Given the description of an element on the screen output the (x, y) to click on. 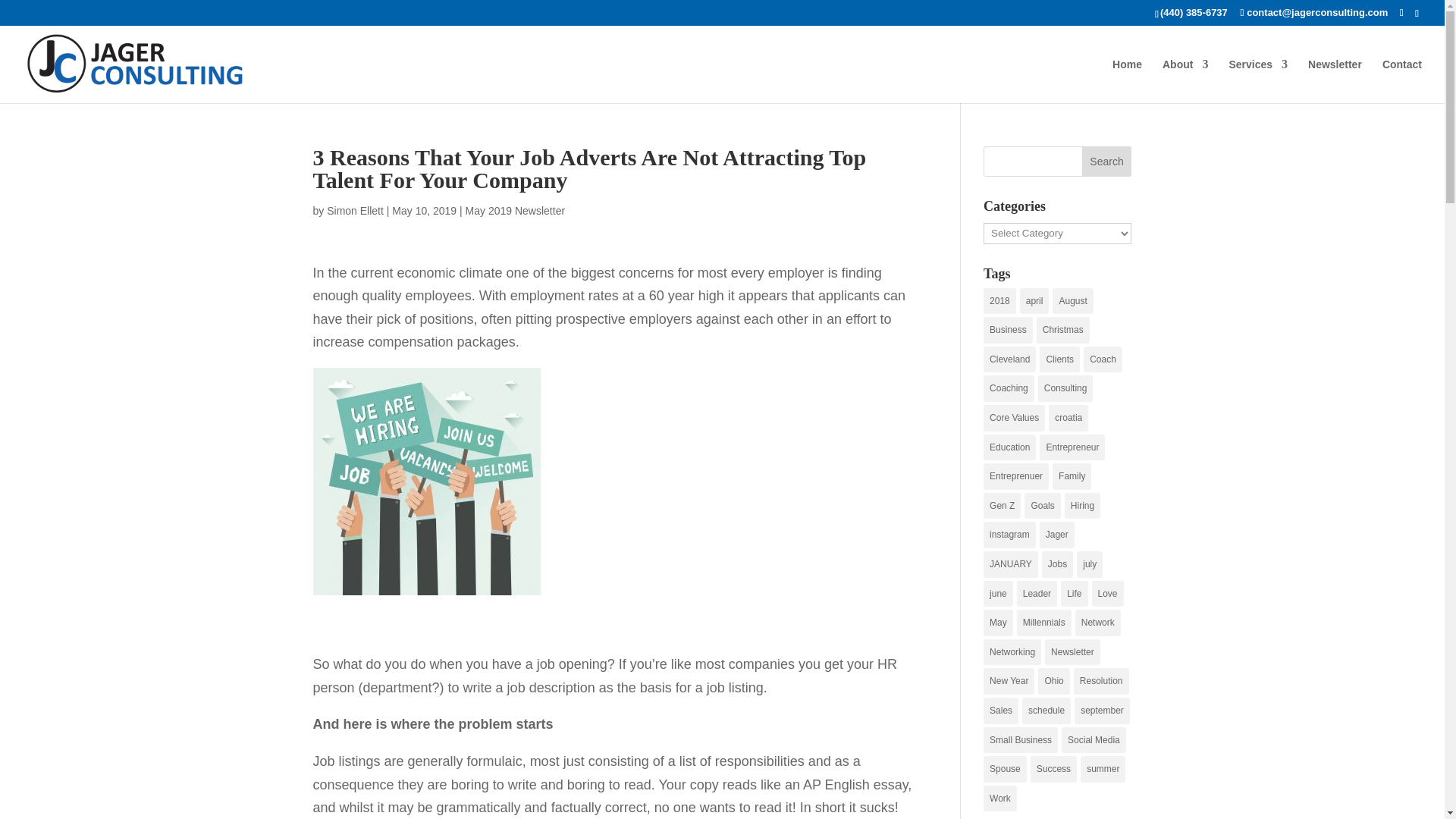
Posts by Simon Ellett (355, 210)
Services (1257, 80)
Search (1106, 161)
Contact (1401, 80)
May 2019 Newsletter (515, 210)
Newsletter (1334, 80)
Simon Ellett (355, 210)
About (1184, 80)
